Given the description of an element on the screen output the (x, y) to click on. 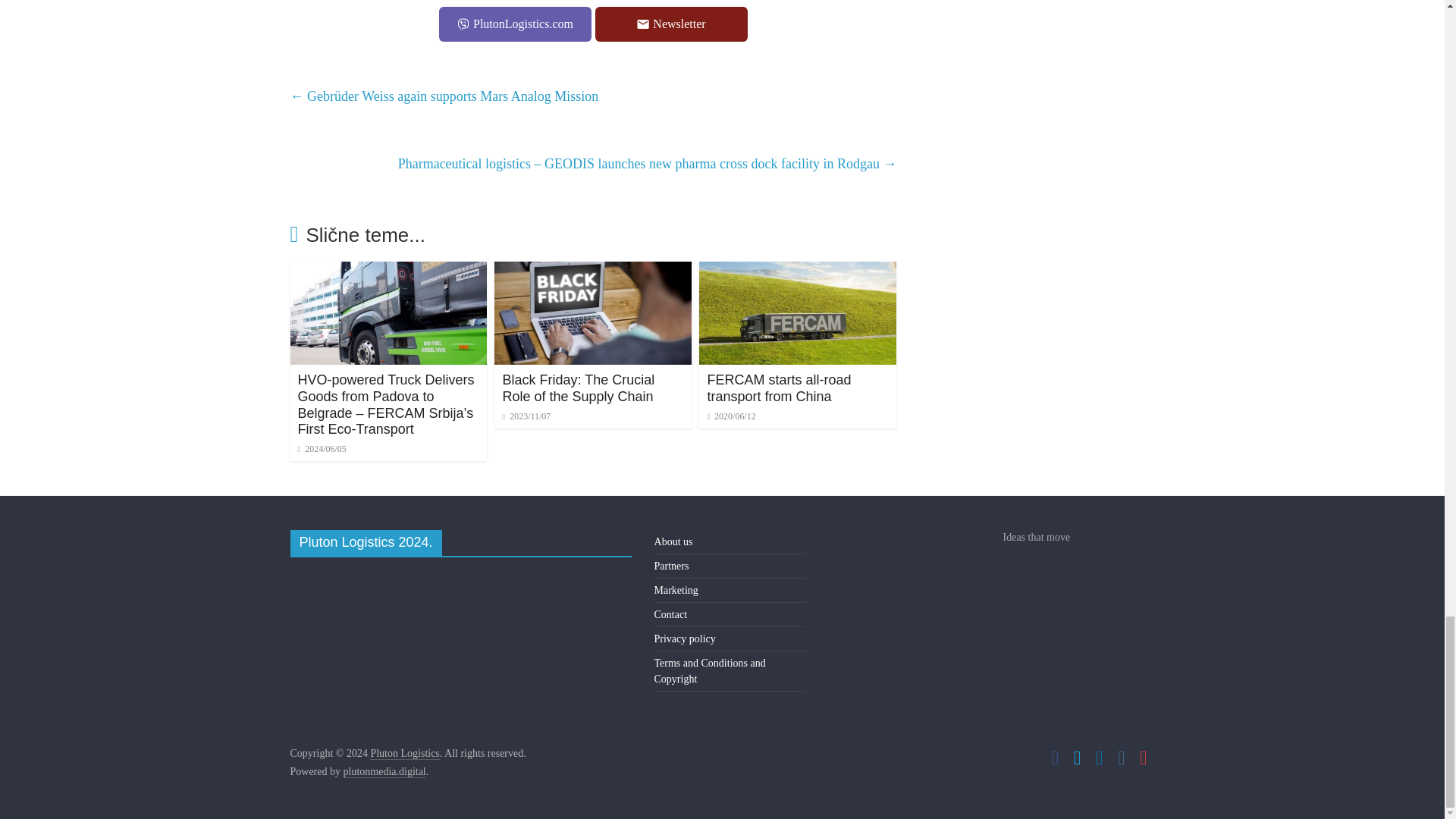
12:00 (321, 448)
Black Friday: The Crucial Role of the Supply Chain (593, 270)
Black Friday: The Crucial Role of the Supply Chain (577, 388)
